Given the description of an element on the screen output the (x, y) to click on. 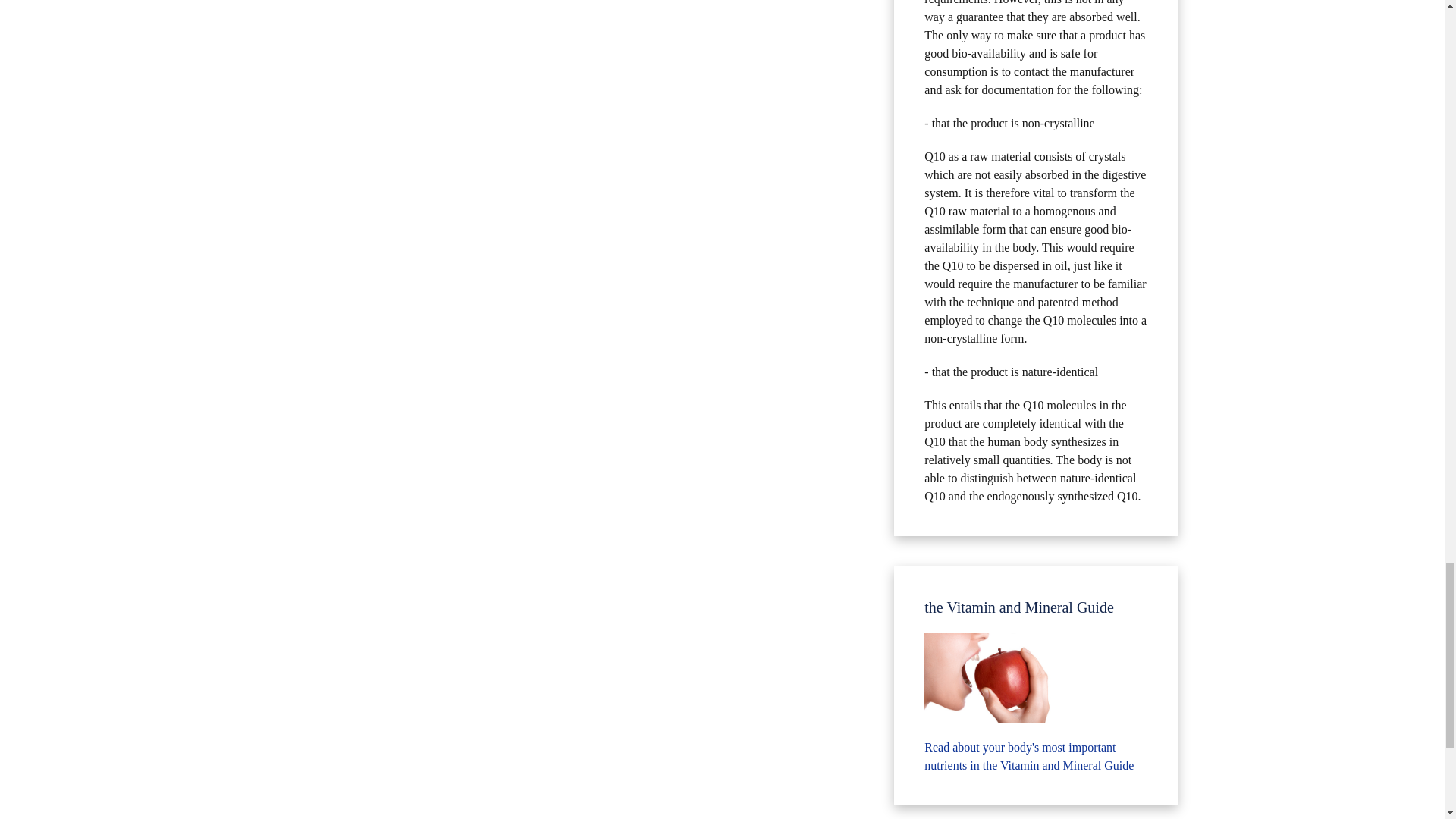
the Vitamin and Mineral Guide (992, 678)
